Given the description of an element on the screen output the (x, y) to click on. 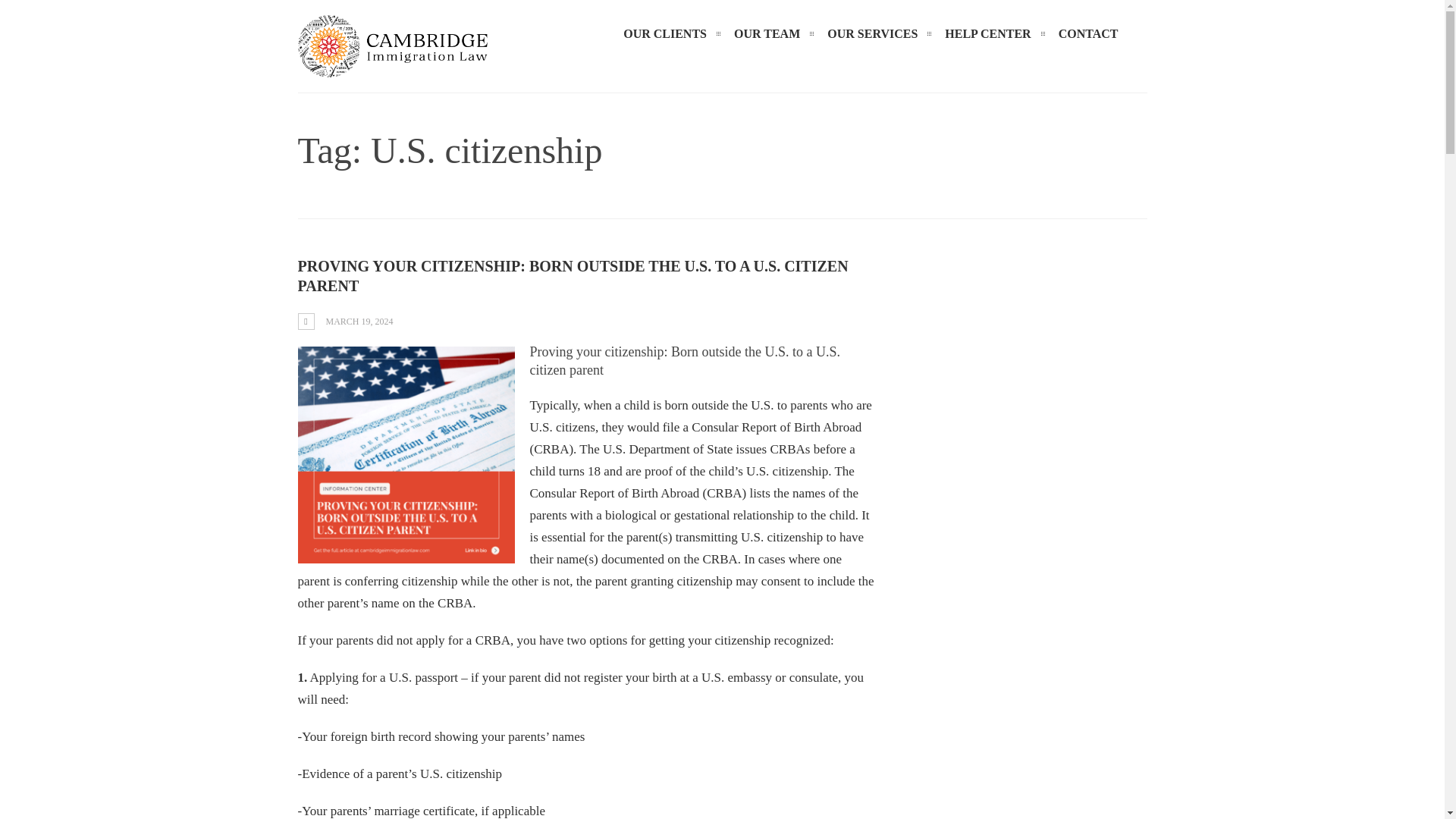
OUR TEAM (767, 33)
OUR SERVICES (871, 33)
HELP CENTER (987, 33)
CONTACT (1088, 33)
Marriage Green Card and Citizenship Attorneys (391, 65)
OUR CLIENTS (664, 33)
